Given the description of an element on the screen output the (x, y) to click on. 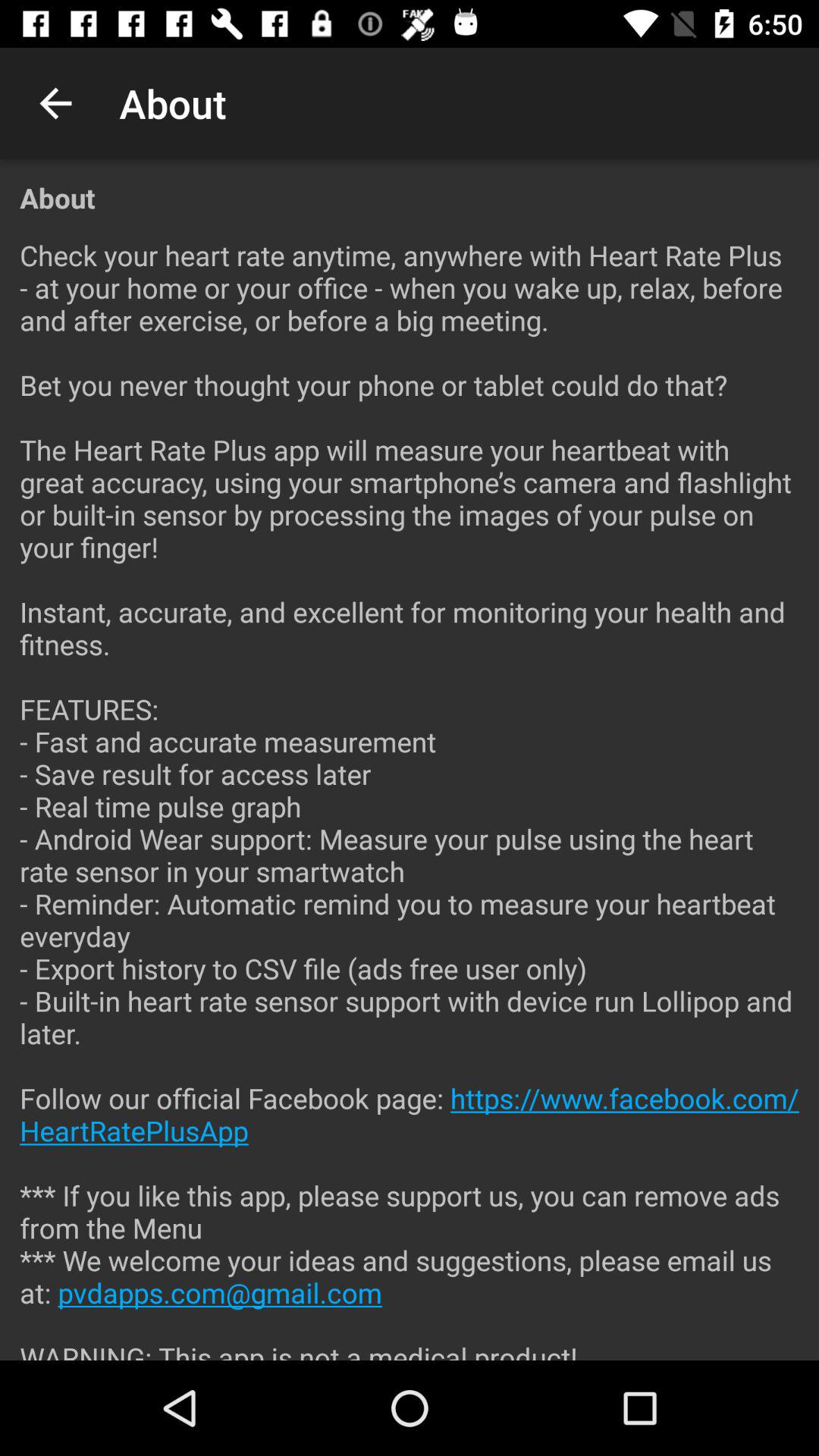
launch the item to the left of about item (55, 103)
